Given the description of an element on the screen output the (x, y) to click on. 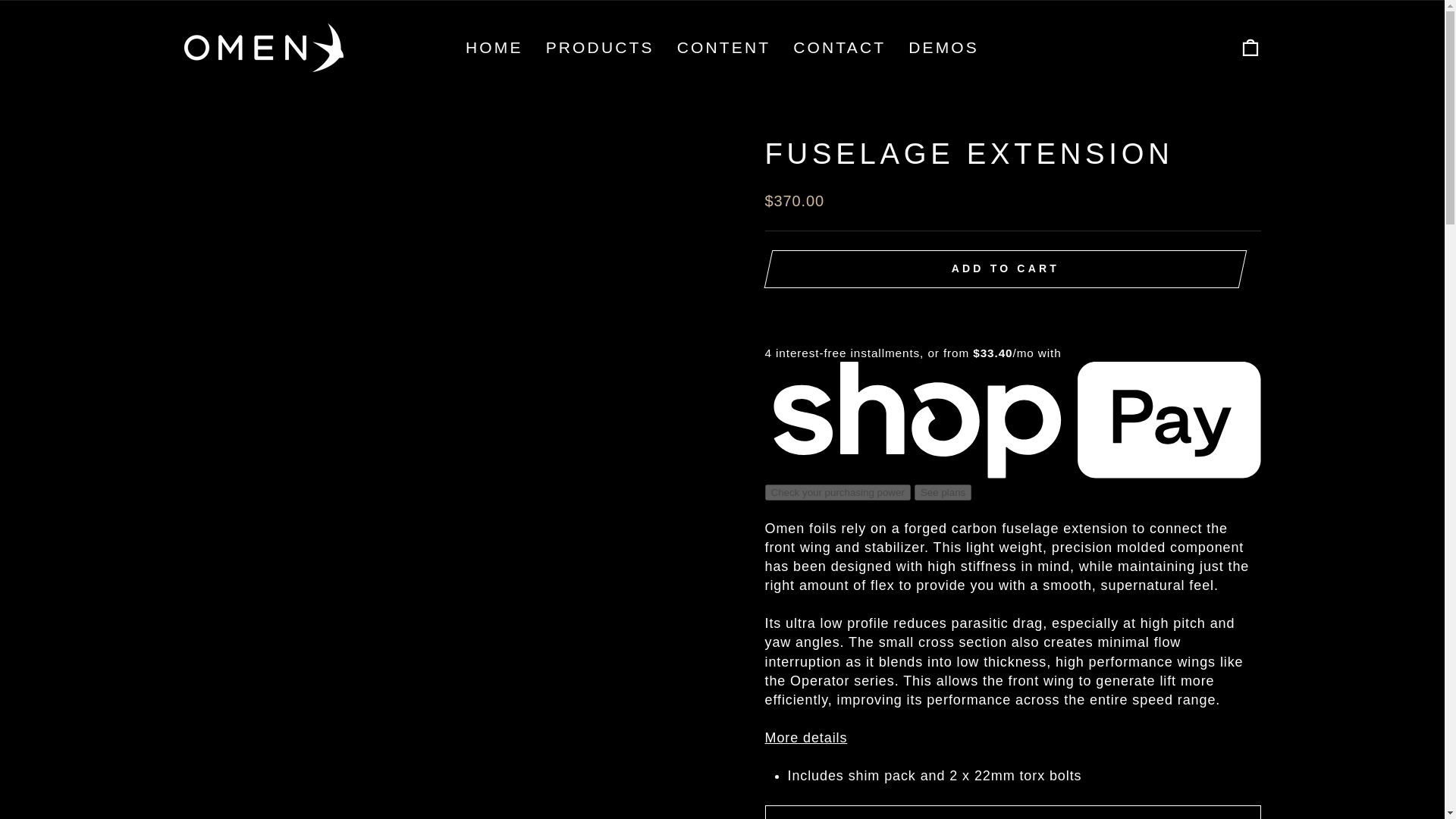
CONTENT (724, 47)
DEMOS (943, 47)
CART (1249, 47)
ASK A QUESTION (1012, 812)
CONTACT (838, 47)
HOME (494, 47)
ADD TO CART (1005, 269)
PRODUCTS (599, 47)
